Given the description of an element on the screen output the (x, y) to click on. 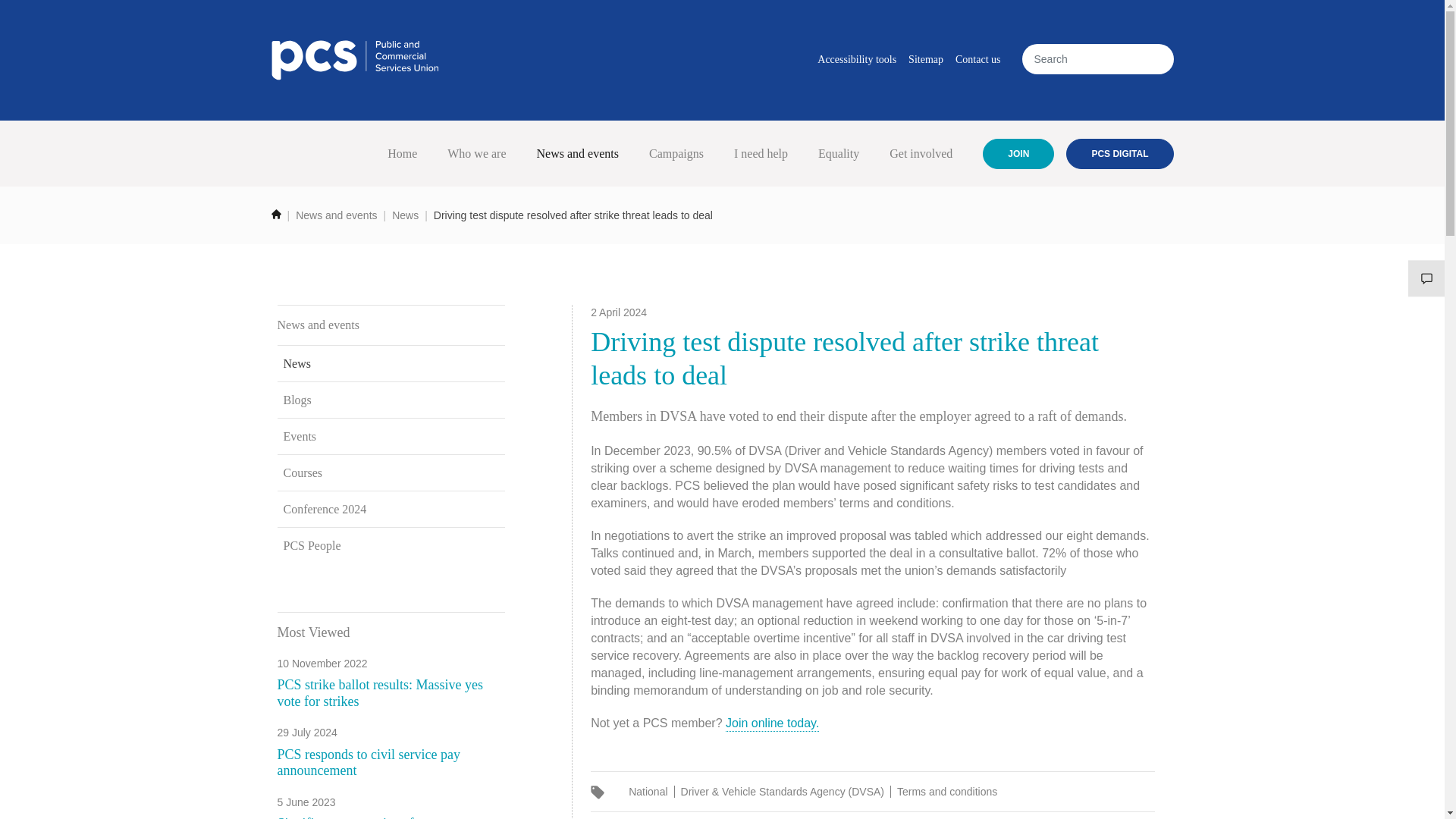
News and events (577, 153)
Expand menu Who we are (476, 153)
Expand menu I need help (760, 153)
Search (1153, 58)
Home (354, 60)
Contact us (978, 60)
Sitemap (925, 60)
PCS Digital (1119, 153)
I need help (760, 153)
Tags (597, 791)
